Given the description of an element on the screen output the (x, y) to click on. 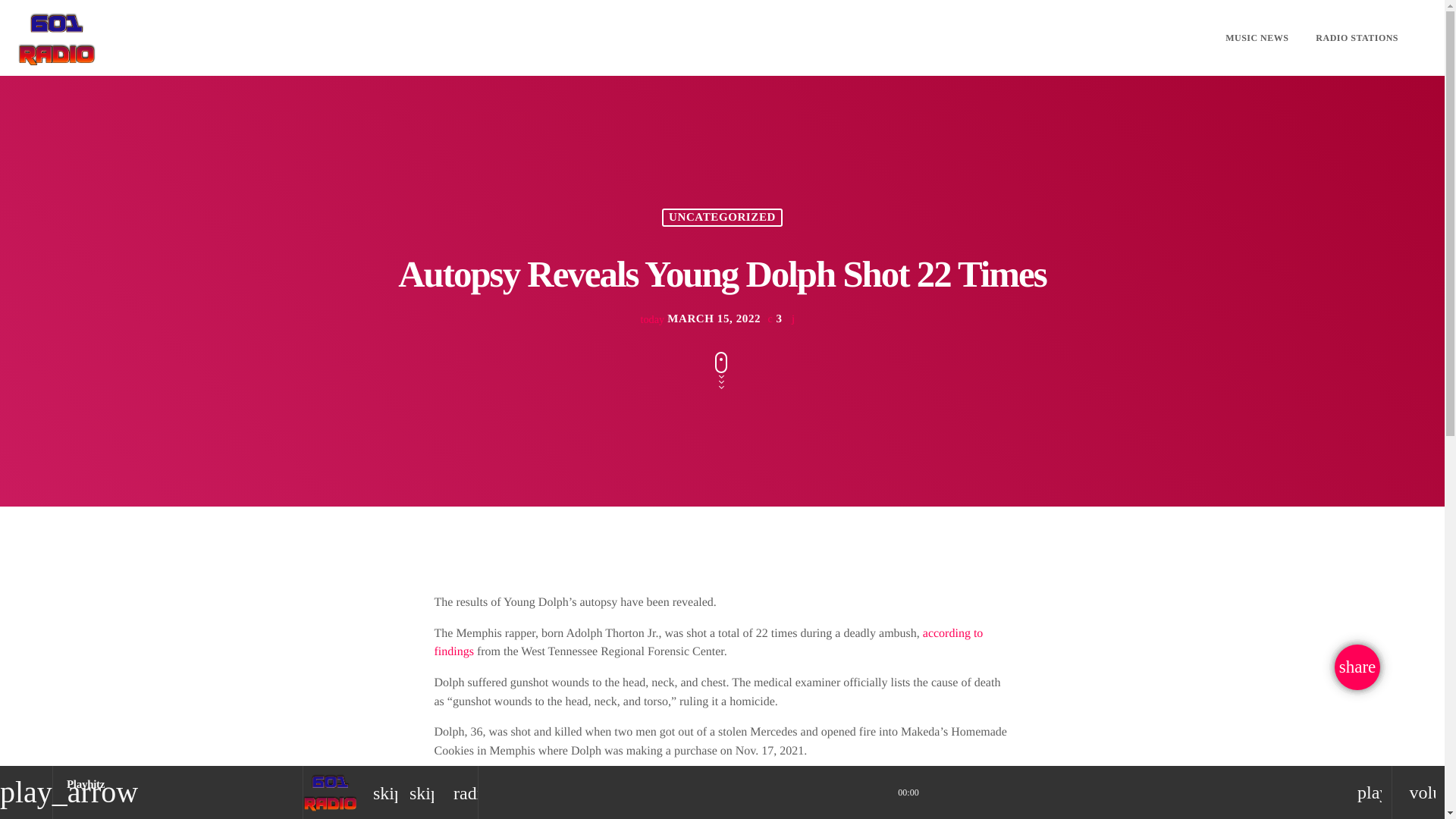
email (1357, 666)
RADIO STATIONS (1356, 37)
MUSIC NEWS (1256, 37)
Playhitz (85, 784)
arrested and charged (712, 781)
according to findings (707, 643)
